Given the description of an element on the screen output the (x, y) to click on. 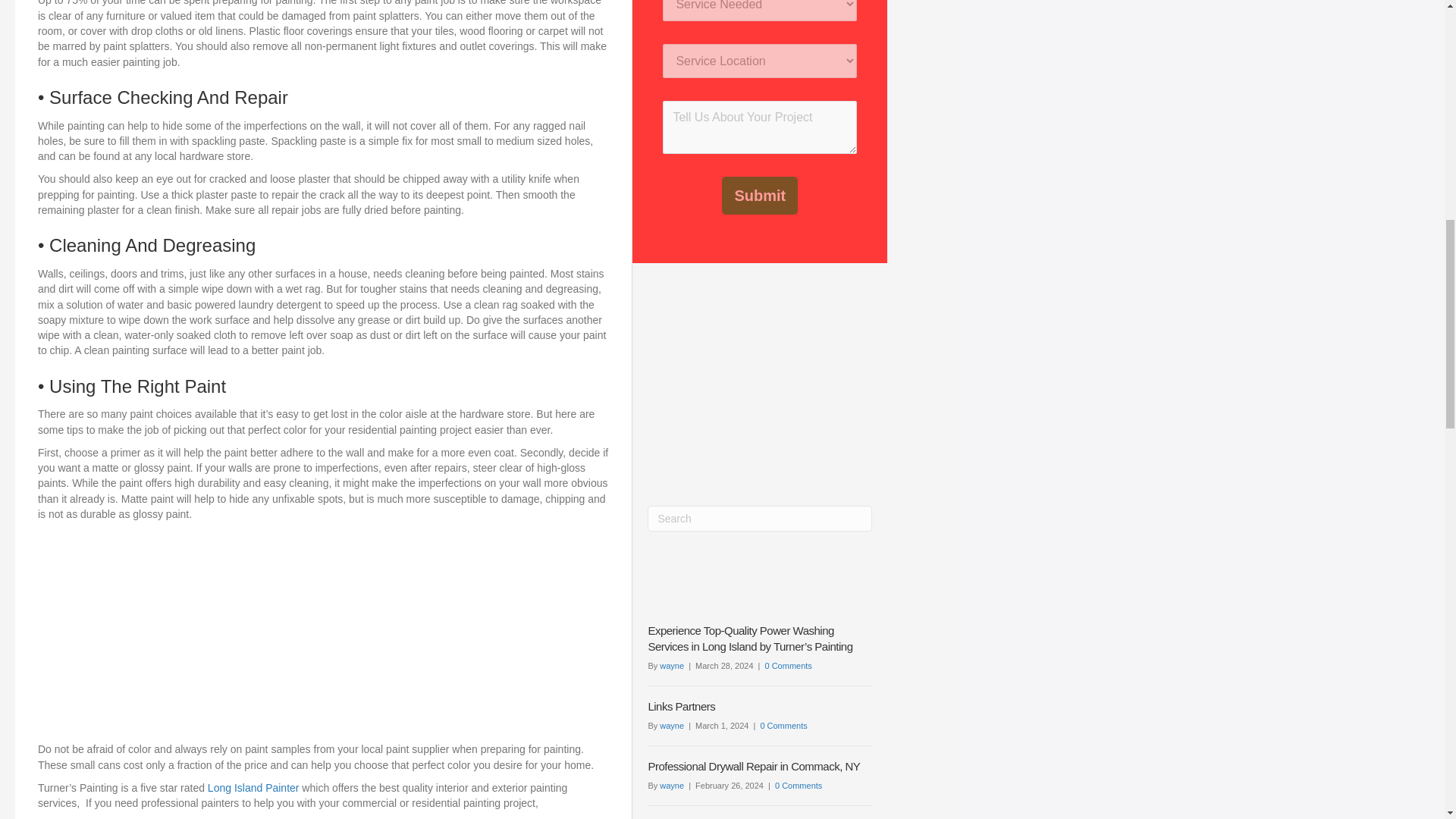
Links Partners (680, 706)
Type and press Enter to search. (759, 518)
Advertisement (322, 635)
Advertisement (758, 377)
Professional Drywall Repair in Commack, NY (753, 766)
